Given the description of an element on the screen output the (x, y) to click on. 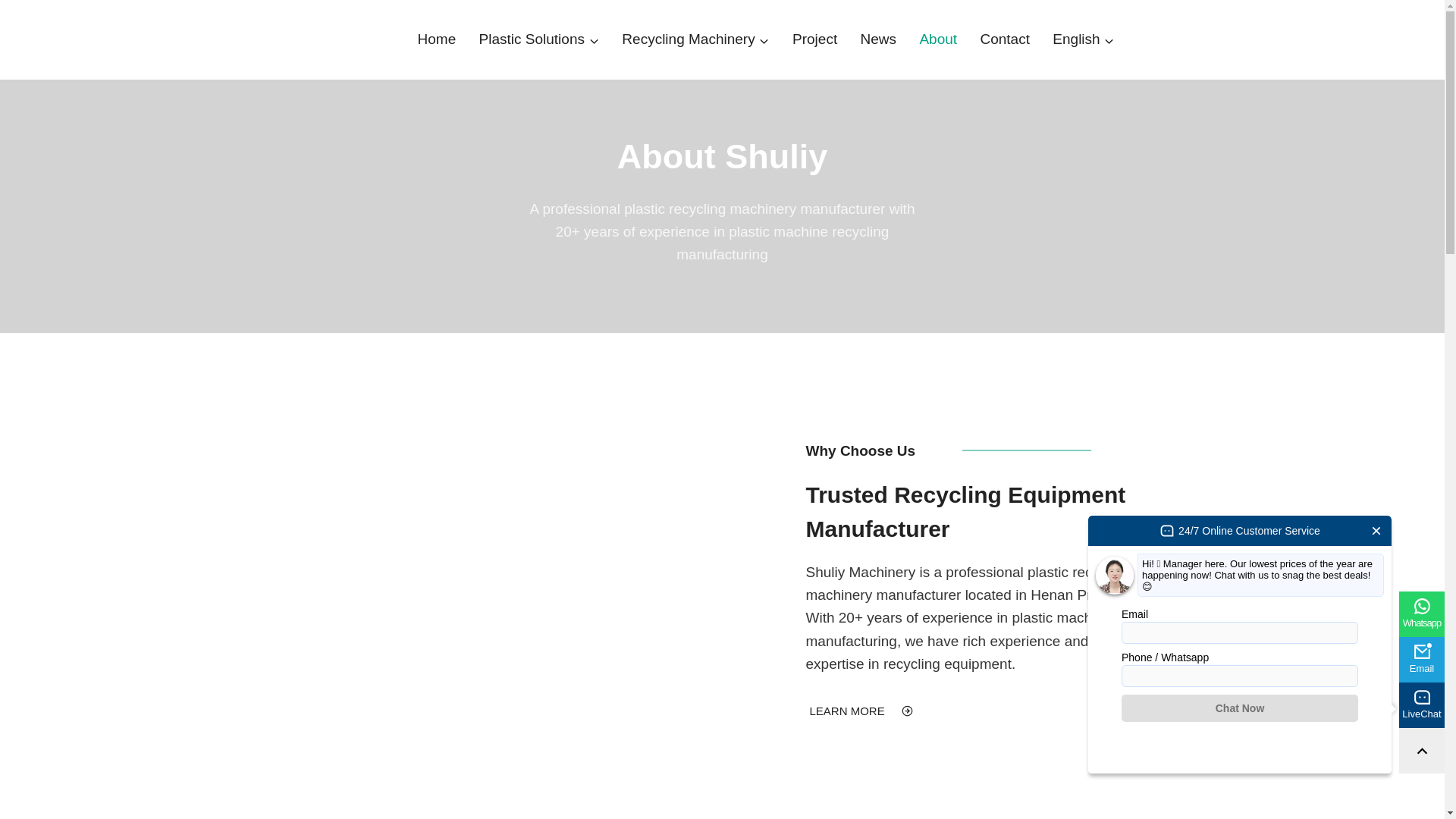
Project (814, 39)
LEARN MORE (860, 711)
Recycling Machinery (695, 39)
News (877, 39)
Livechat Widget (1239, 644)
Plastic Solutions (538, 39)
English (1083, 39)
Contact (1004, 39)
Home (436, 39)
About (937, 39)
